Given the description of an element on the screen output the (x, y) to click on. 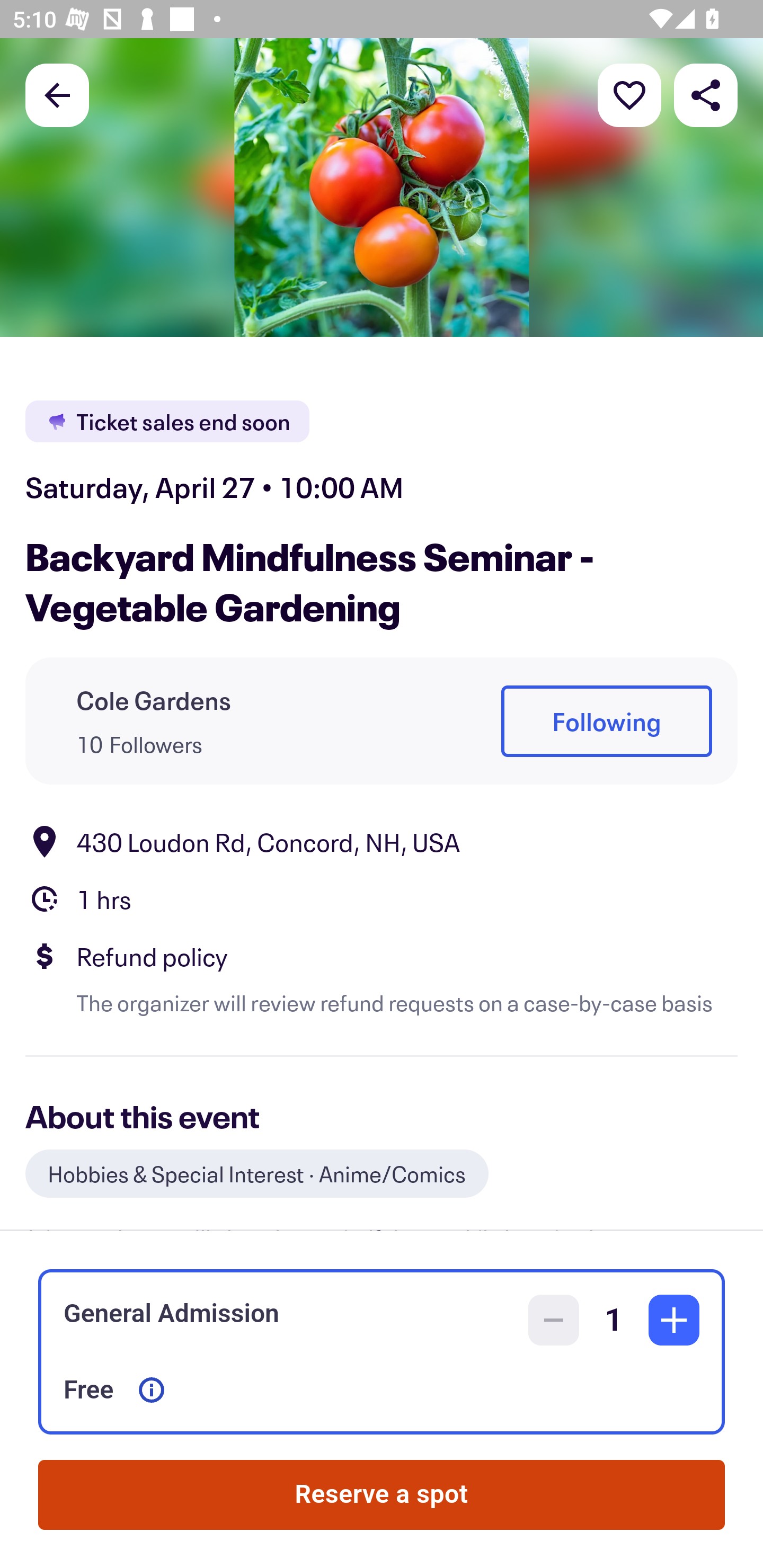
Back (57, 94)
More (629, 94)
Share (705, 94)
Cole Gardens (153, 699)
Following (606, 720)
Location 430 Loudon Rd, Concord, NH, USA (381, 840)
Decrease (553, 1320)
Increase (673, 1320)
Show more information (151, 1389)
Reserve a spot (381, 1494)
